Given the description of an element on the screen output the (x, y) to click on. 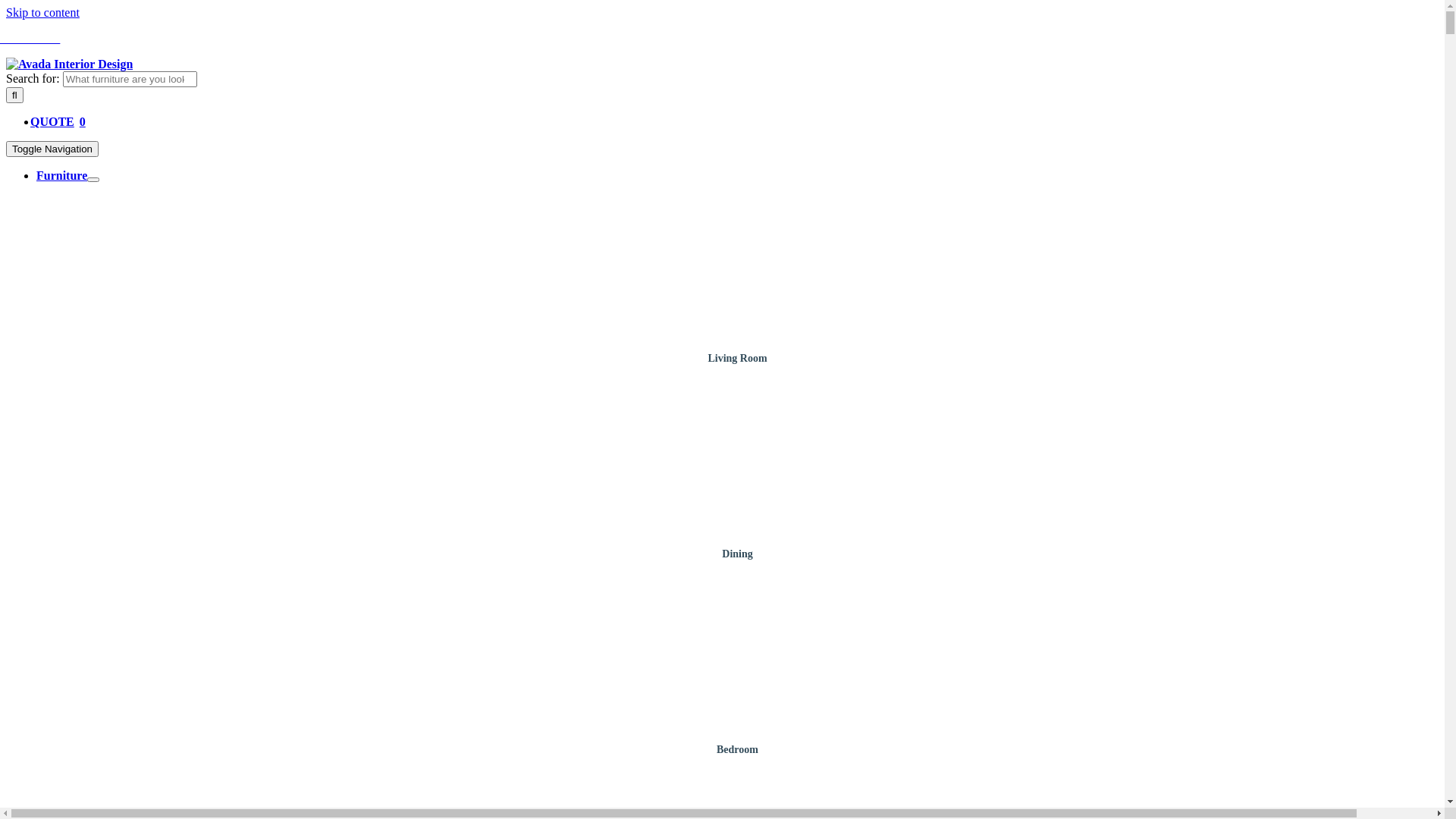
Furniture Element type: text (61, 175)
Dining Element type: text (736, 553)
Living Room Element type: text (736, 358)
Skip to content Element type: text (42, 12)
QUOTE0 Element type: text (60, 121)
Toggle Navigation Element type: text (52, 148)
Bedroom Element type: text (737, 748)
